Given the description of an element on the screen output the (x, y) to click on. 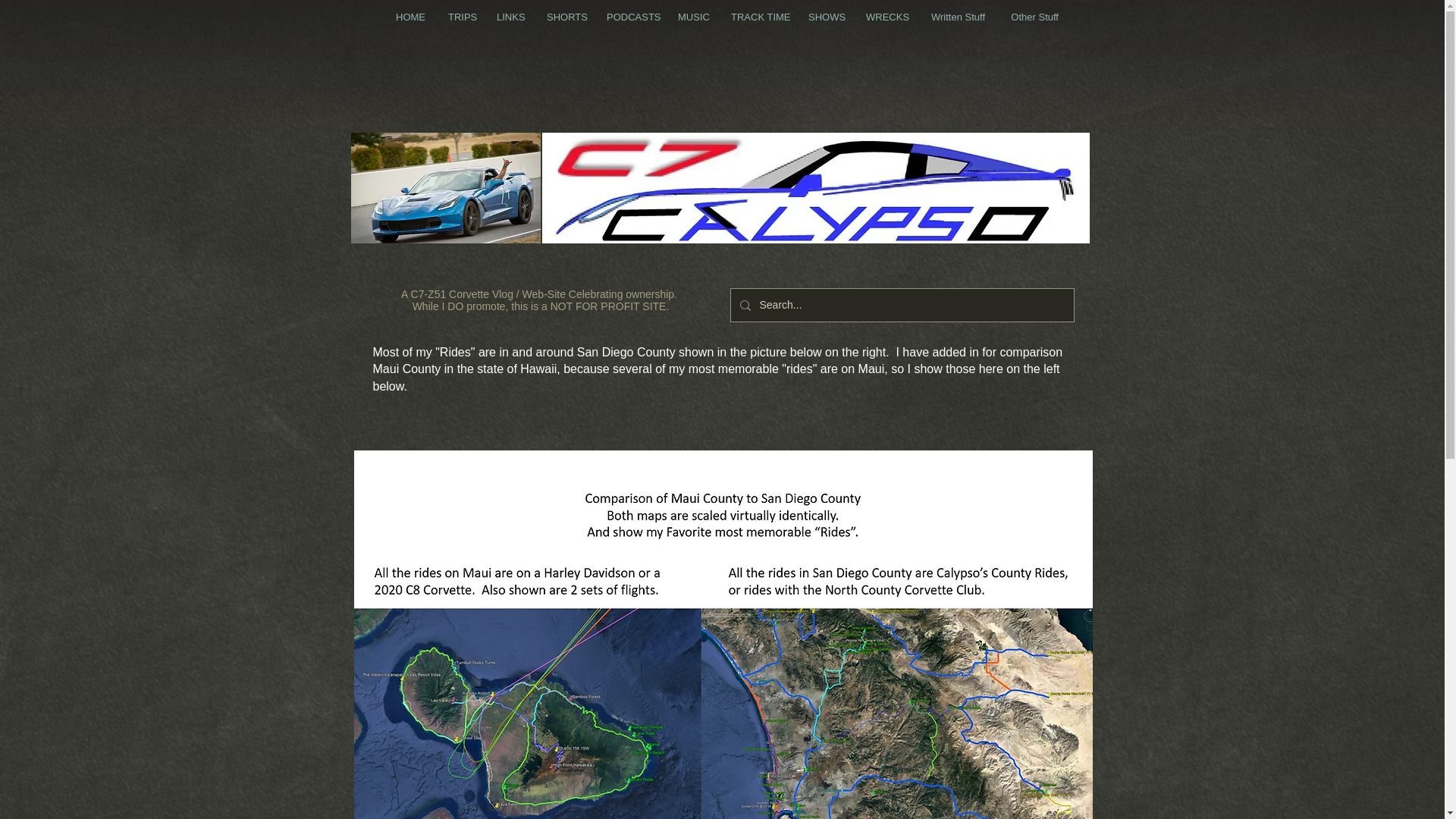
WRECKS (884, 16)
PODCASTS (630, 16)
Image 12.jpg (815, 187)
Facebook Like (736, 117)
SHORTS (565, 16)
SHOWS (825, 16)
HOME (410, 16)
MUSIC (692, 16)
TRACK TIME (757, 16)
